Given the description of an element on the screen output the (x, y) to click on. 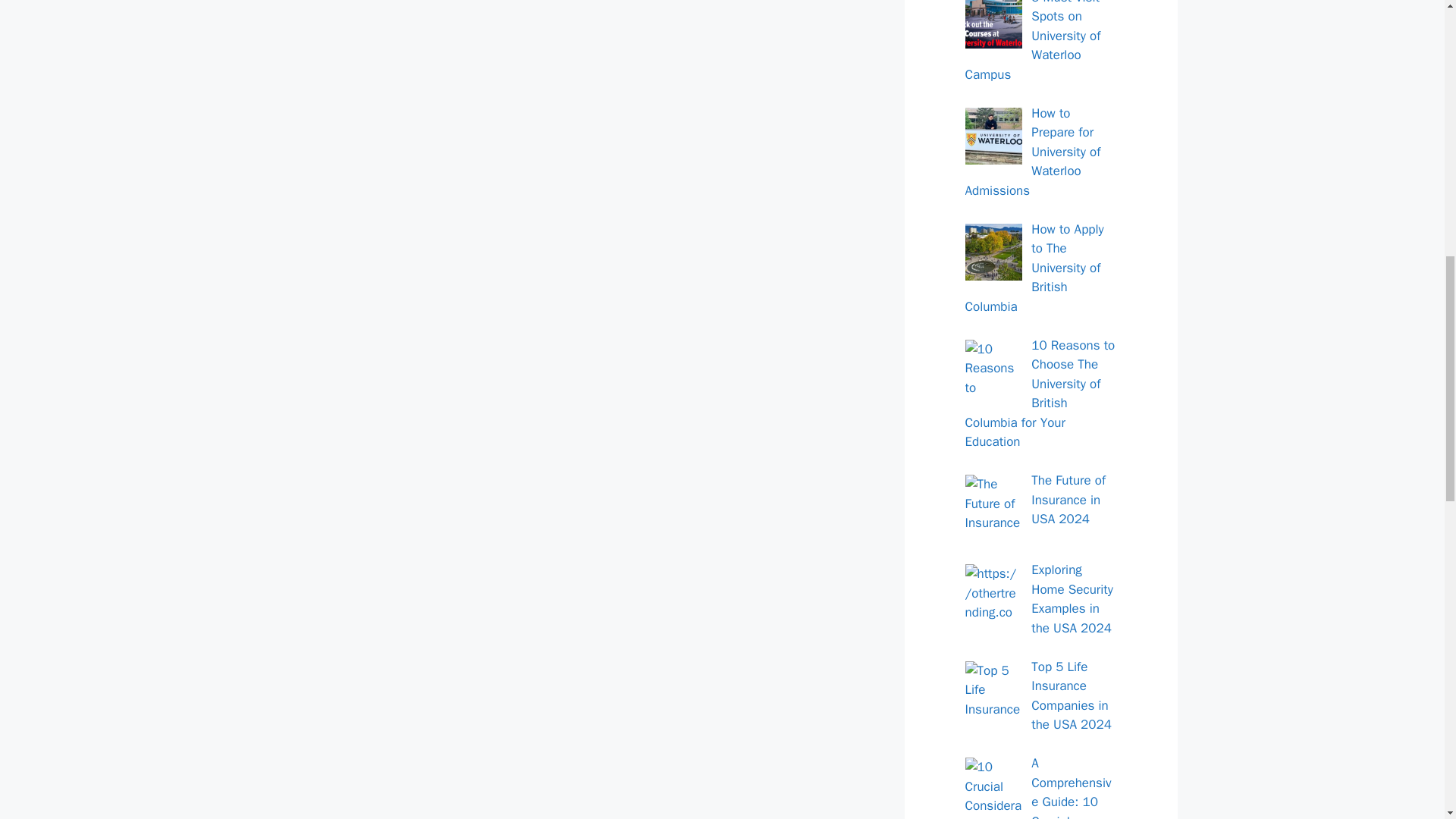
How to Apply to The University of British Columbia (1033, 267)
The Future of Insurance in USA 2024 (1067, 499)
Top 5 Life Insurance Companies in the USA 2024 (1071, 696)
How to Prepare for University of Waterloo Admissions (1031, 151)
5 Must-Visit Spots on University of Waterloo Campus (1031, 41)
Exploring Home Security Examples in the USA 2024 (1071, 598)
